Given the description of an element on the screen output the (x, y) to click on. 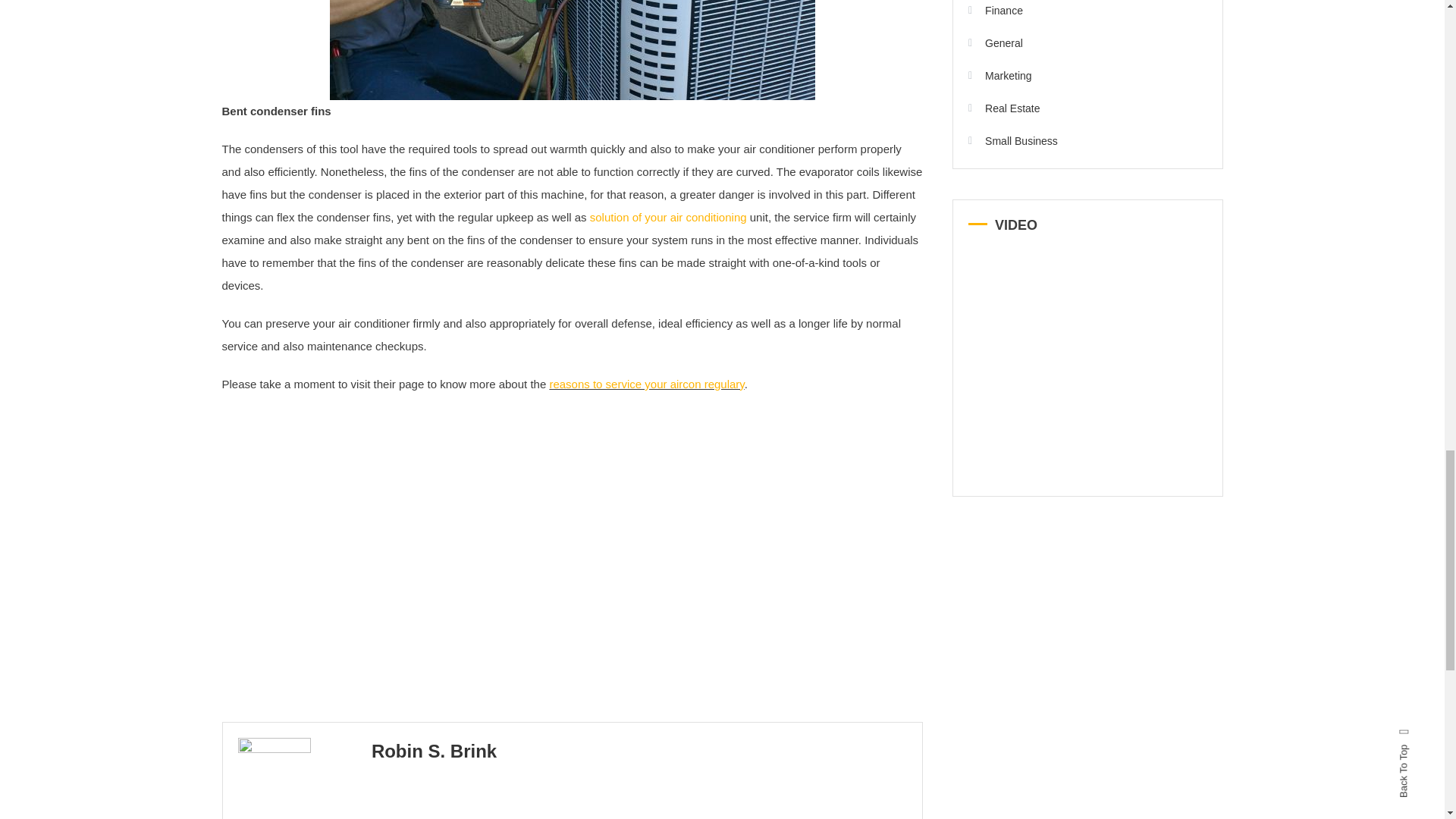
Posts by Robin S. Brink (433, 751)
solution of your air conditioning (667, 216)
Robin S. Brink (433, 751)
reasons to service your aircon regulary (646, 383)
